Given the description of an element on the screen output the (x, y) to click on. 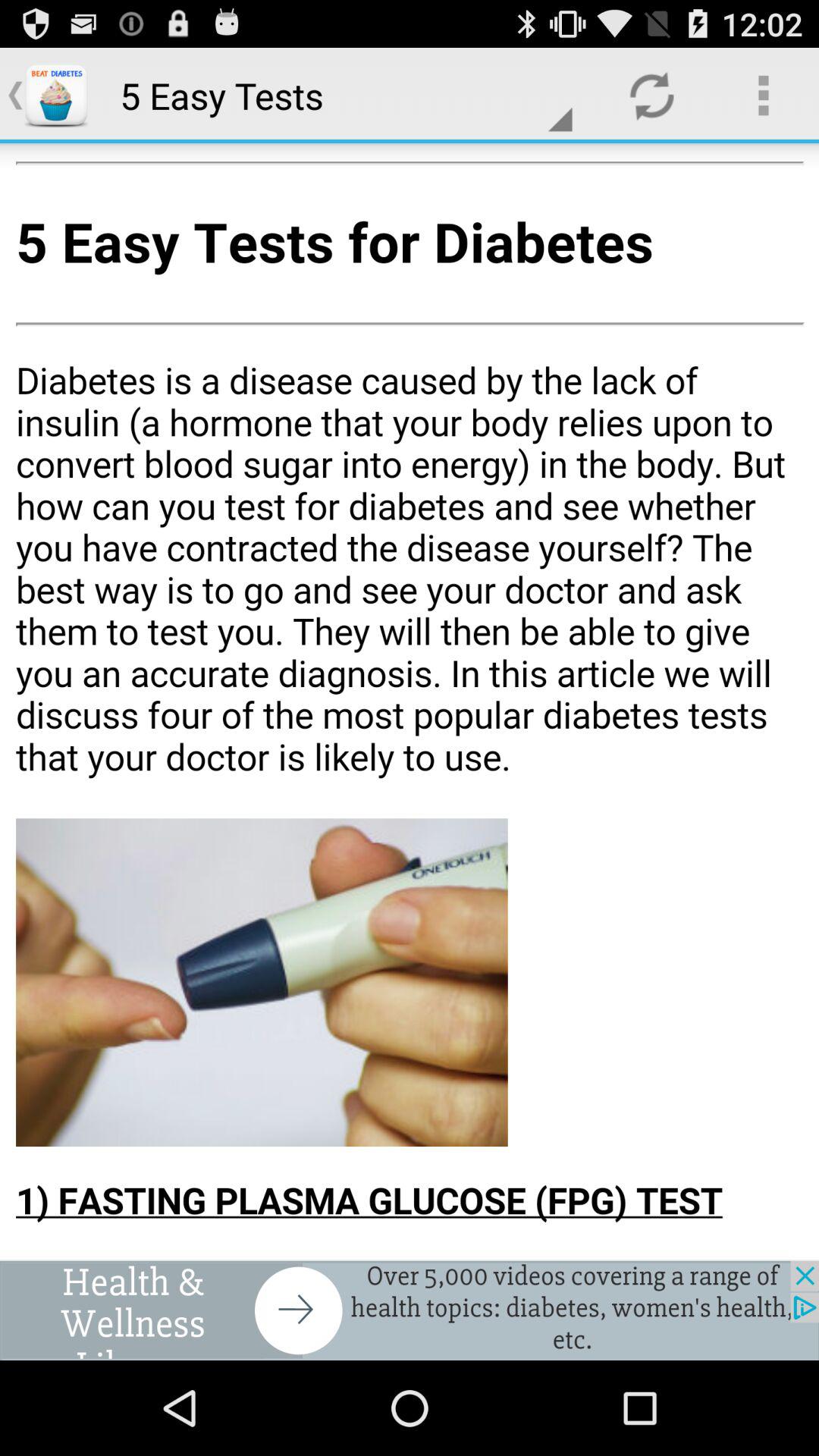
advertisement banner (409, 1310)
